Given the description of an element on the screen output the (x, y) to click on. 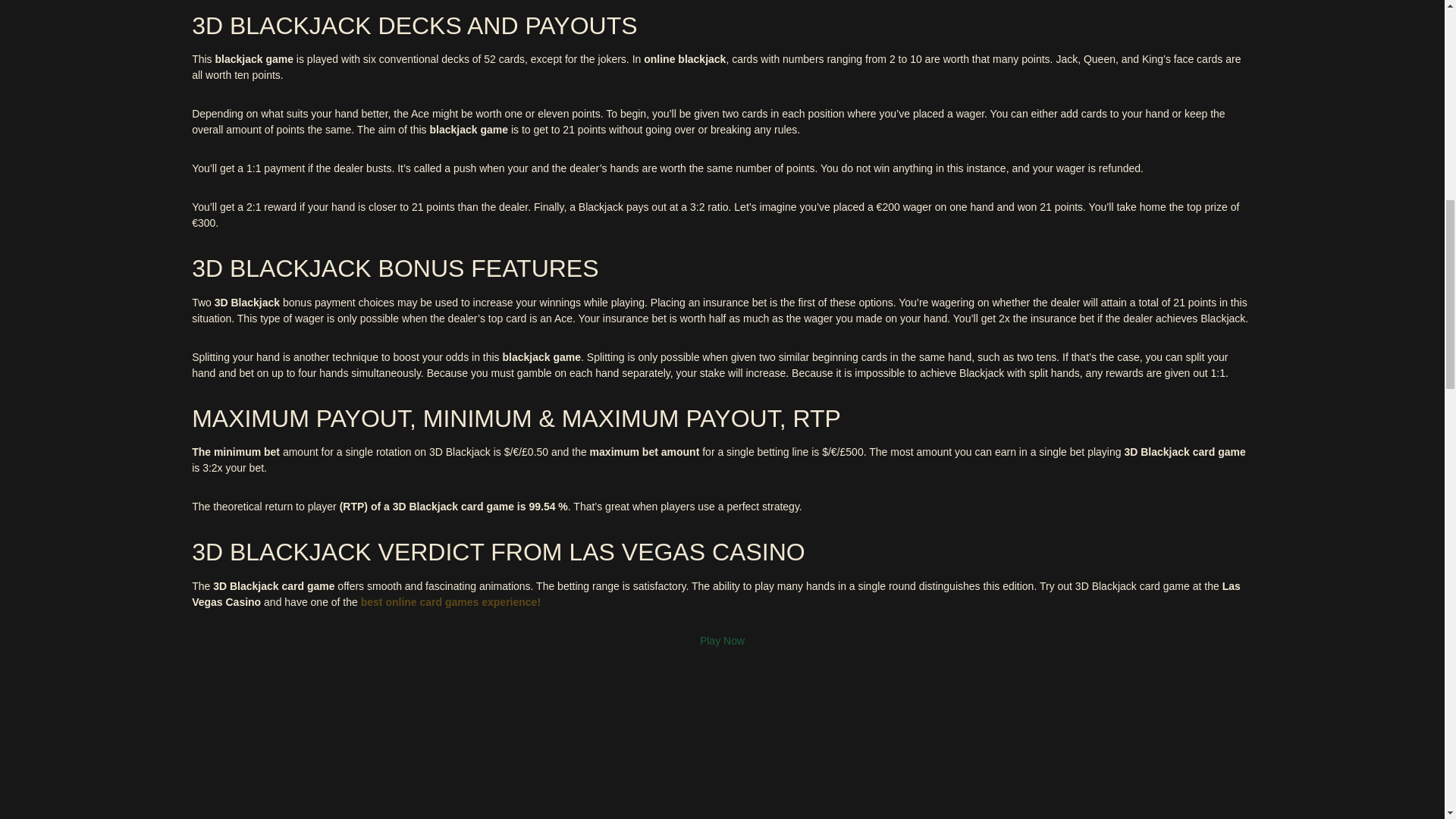
Play Now (722, 640)
best online card games experience! (450, 602)
slots (450, 602)
client logos (79, 755)
client logos (109, 798)
